Given the description of an element on the screen output the (x, y) to click on. 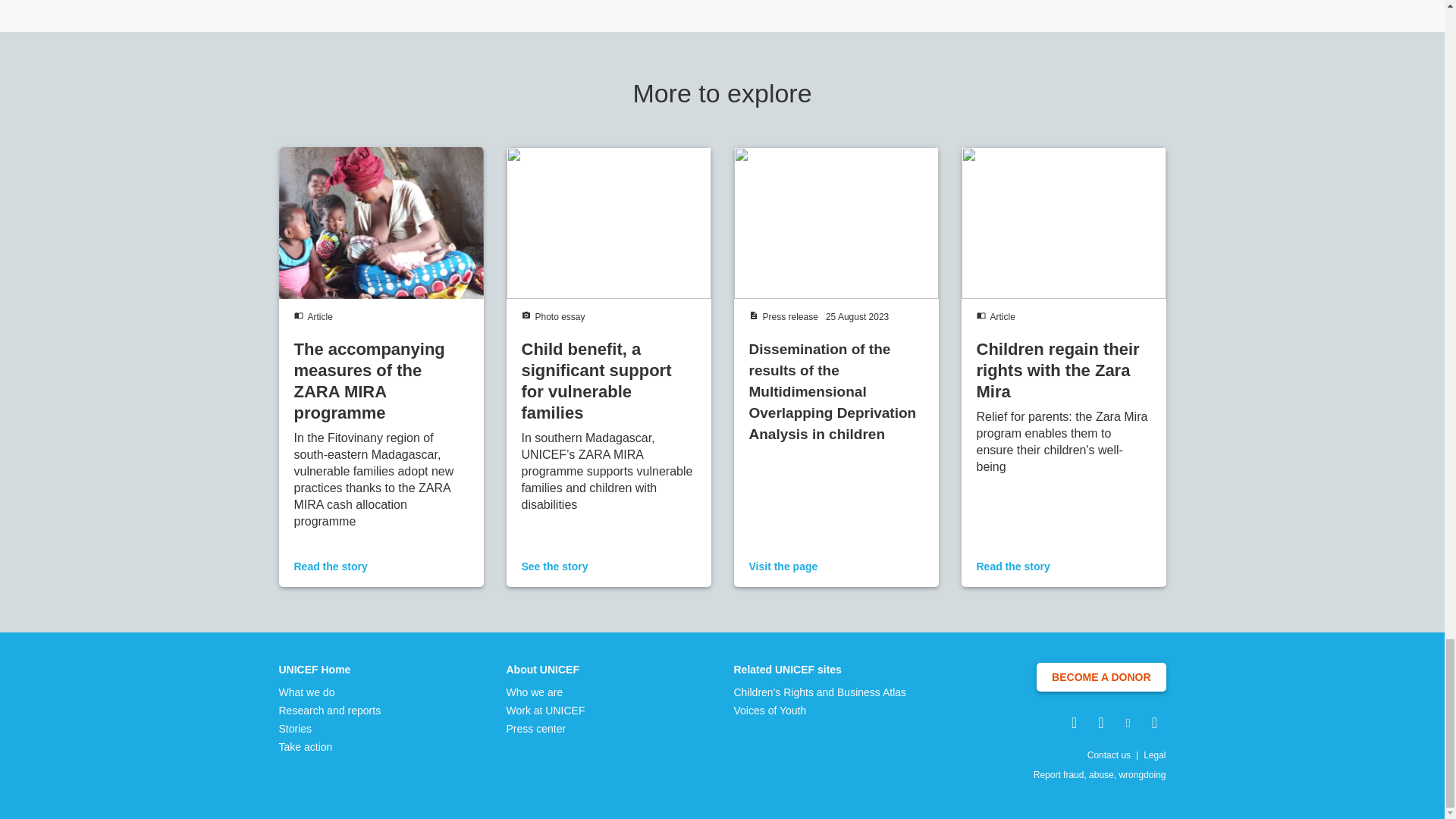
Research and reports (330, 710)
Work at UNICEF (545, 710)
Press center (545, 728)
Take action (330, 746)
UNICEF Home (330, 669)
What we do (330, 692)
Children's Rights and Business Atlas (820, 692)
What we do (330, 692)
Stories (330, 728)
UNICEF Home (330, 669)
